Given the description of an element on the screen output the (x, y) to click on. 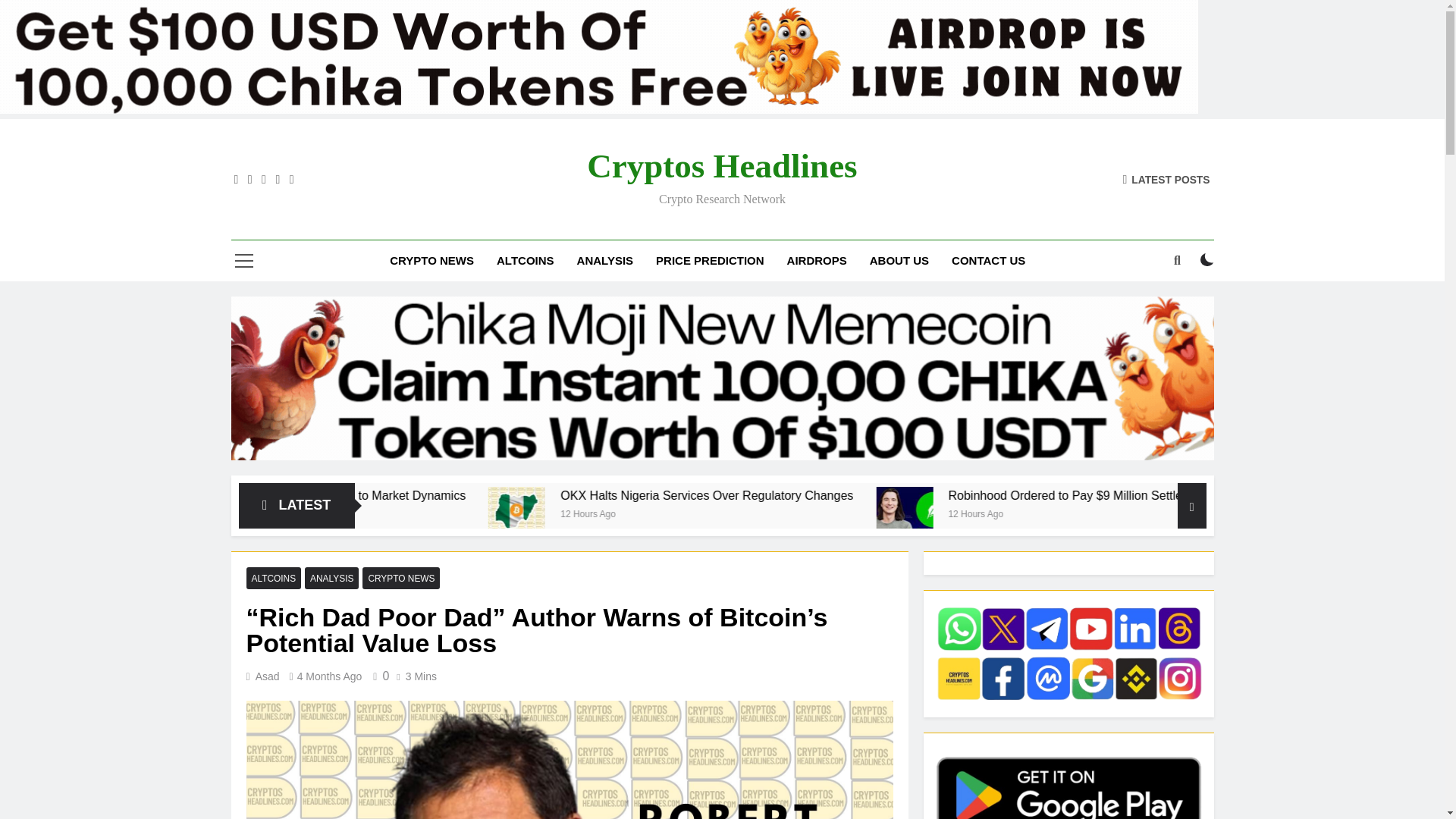
on (1206, 259)
12 Hours Ago (803, 512)
ALTCOINS (525, 260)
ABOUT US (899, 260)
Cryptos Headlines (721, 166)
11 Hours Ago (392, 512)
CRYPTO NEWS (431, 260)
OKX Halts Nigeria Services Over Regulatory Changes (859, 495)
PRICE PREDICTION (710, 260)
OKX Halts Nigeria Services Over Regulatory Changes (926, 495)
ANALYSIS (605, 260)
12 Hours Ago (1181, 512)
LATEST POSTS (1165, 178)
CONTACT US (988, 260)
OKX Halts Nigeria Services Over Regulatory Changes (673, 514)
